Given the description of an element on the screen output the (x, y) to click on. 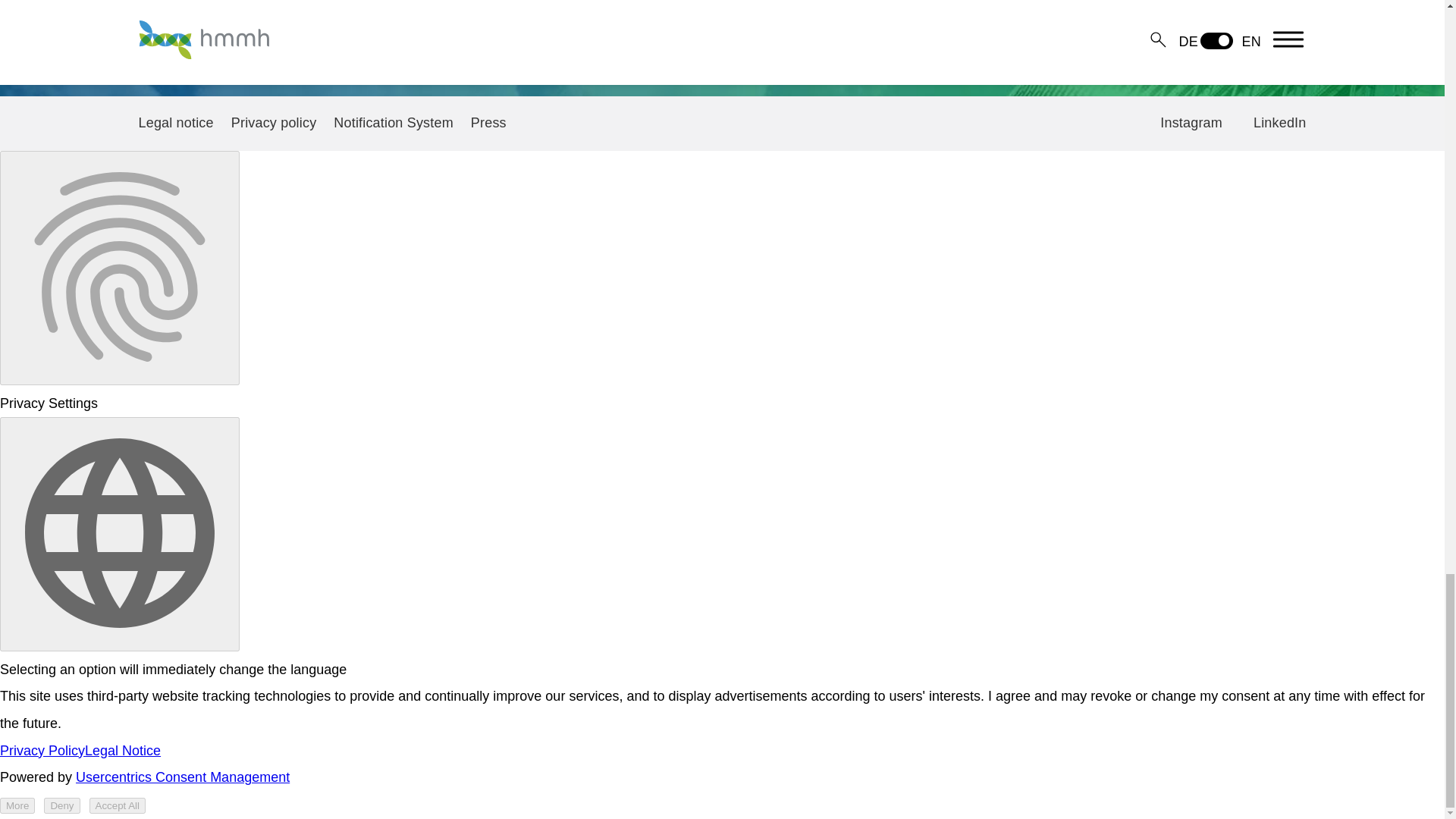
Instagram (1191, 122)
Notification System (392, 122)
Privacy policy (274, 122)
LinkedIn (1279, 122)
Legal notice (175, 122)
Press (488, 122)
